Given the description of an element on the screen output the (x, y) to click on. 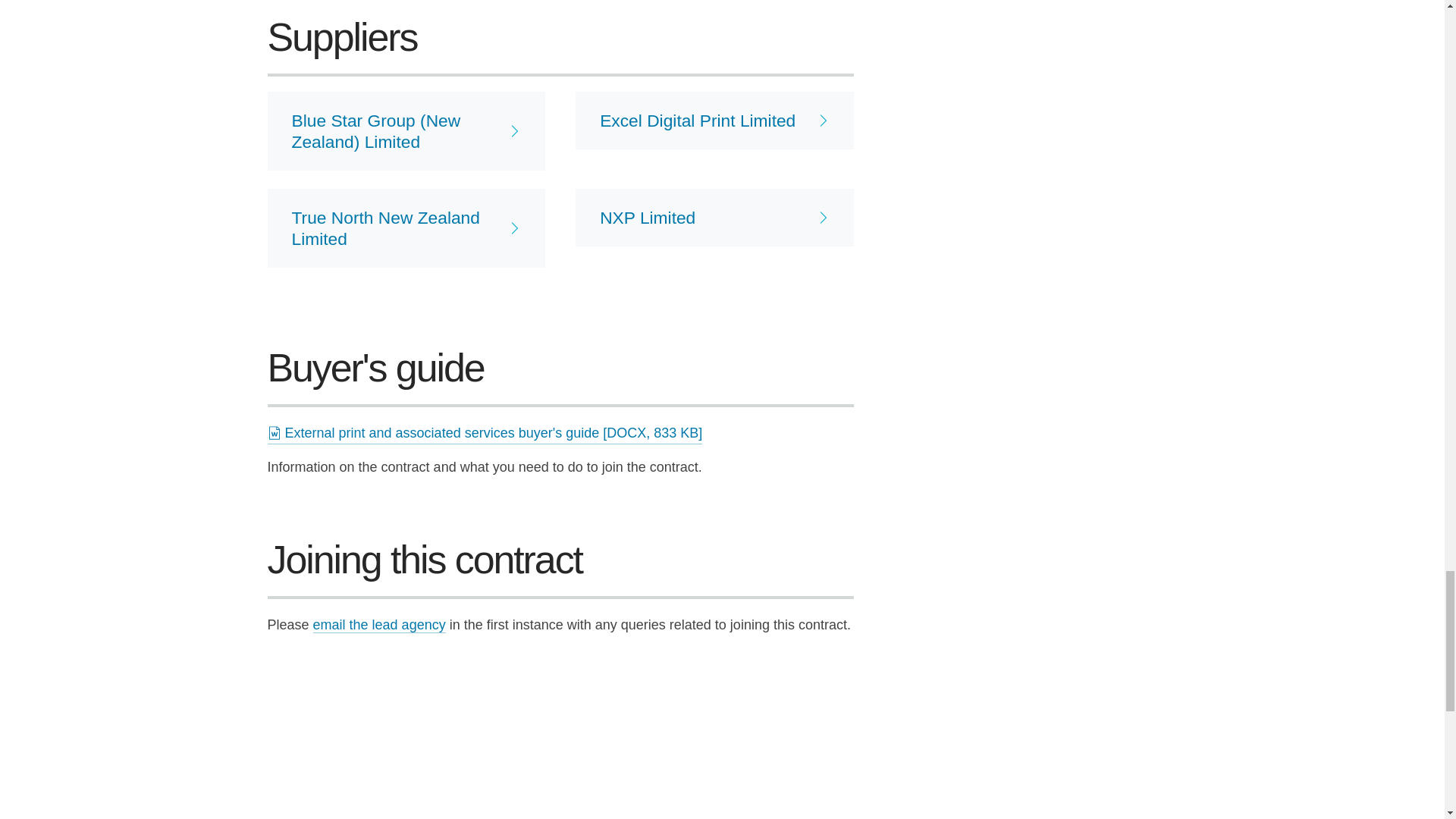
True North New Zealand Limited (405, 228)
Excel Digital Print Limited (714, 120)
email the lead agency (379, 625)
NXP Limited (714, 217)
